Given the description of an element on the screen output the (x, y) to click on. 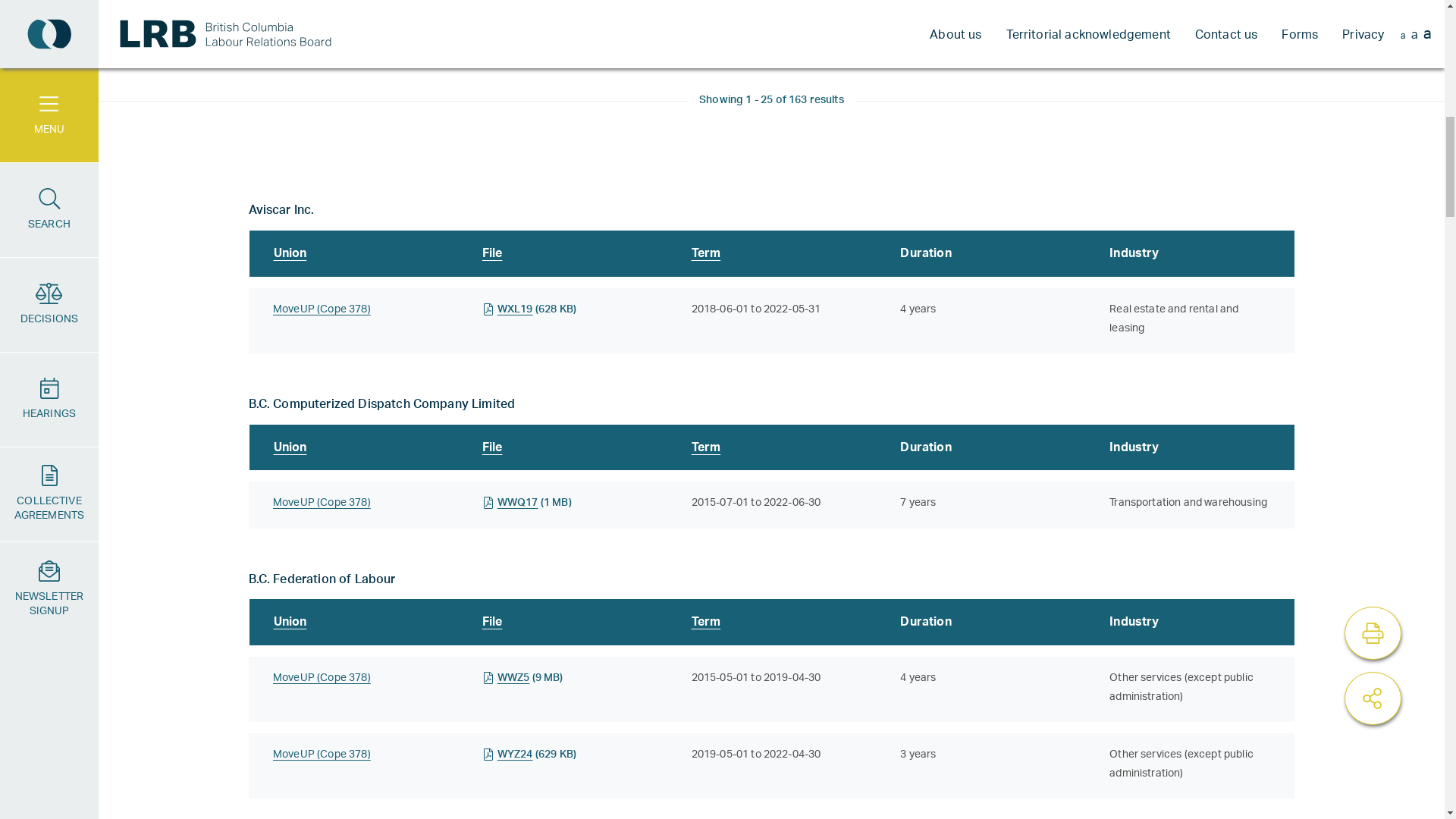
Communicable disease prevention plan Element type: text (349, 121)
Labour Relations Code Element type: text (1239, 121)
Home Element type: text (251, 172)
Labour Relations Code Element type: text (508, 363)
Skip to main content Element type: text (721, 12)
Email an agreement Element type: text (1187, 386)
